Given the description of an element on the screen output the (x, y) to click on. 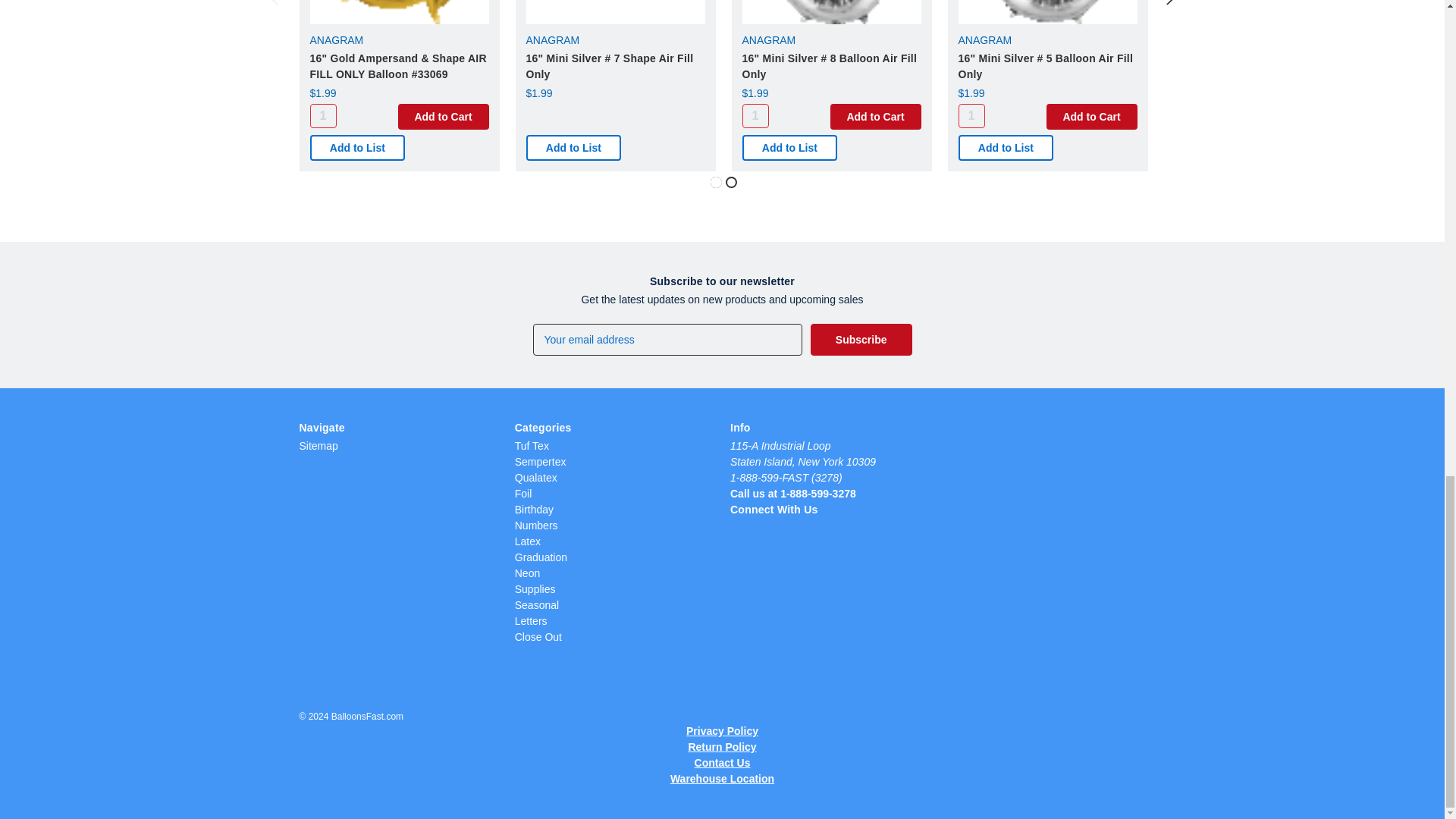
Instagram (737, 530)
Add to Cart (1091, 116)
1 (754, 115)
Add to Cart (874, 116)
1 (971, 115)
small gold ampersand balloon (397, 12)
1 (322, 115)
Add to Cart (442, 116)
Twitter (765, 530)
Facebook (792, 530)
Subscribe (861, 339)
